Given the description of an element on the screen output the (x, y) to click on. 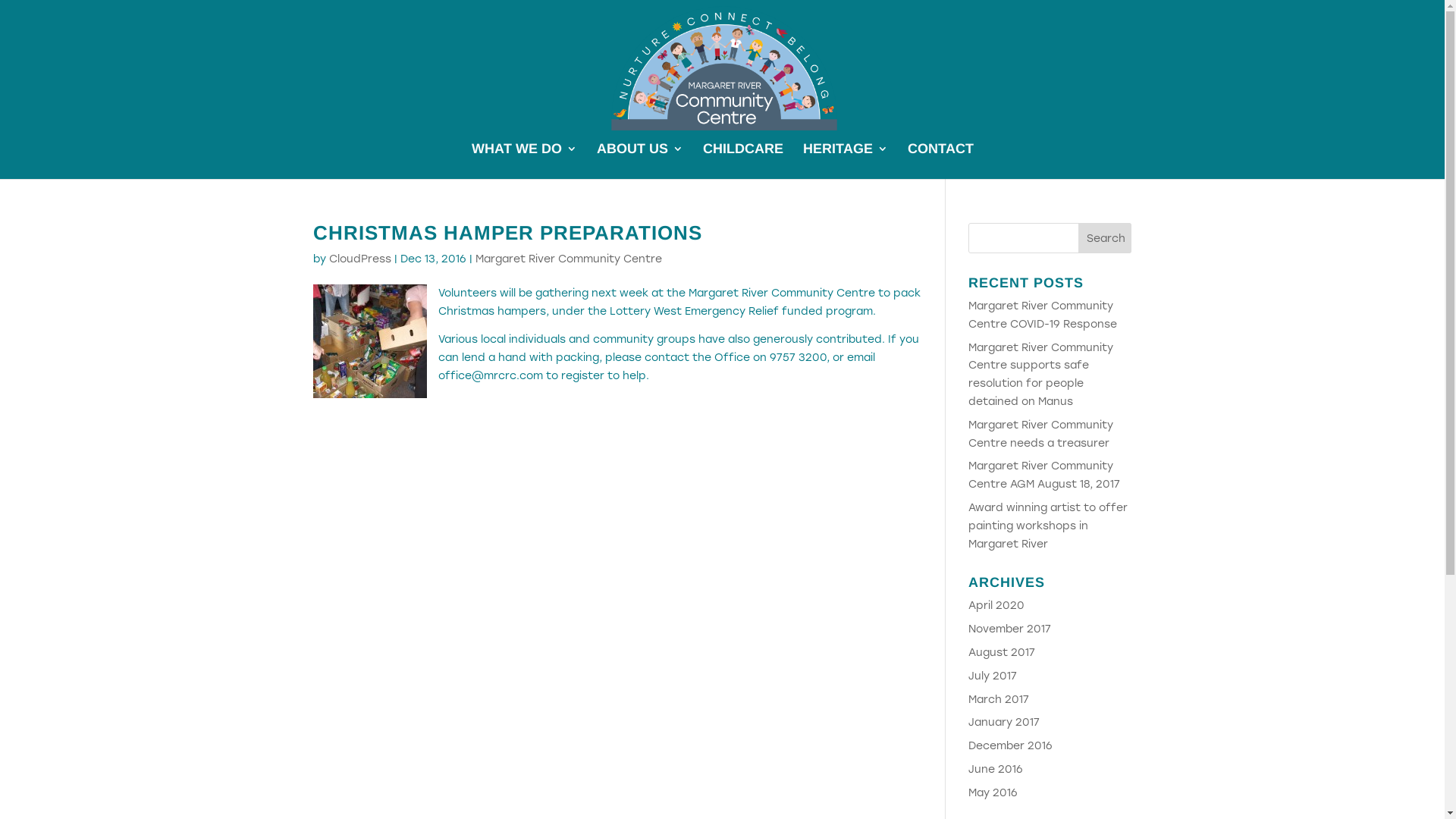
Margaret River Community Centre Element type: text (567, 258)
Margaret River Community Centre needs a treasurer Element type: text (1040, 433)
April 2020 Element type: text (996, 605)
CONTACT Element type: text (939, 160)
CHILDCARE Element type: text (742, 160)
June 2016 Element type: text (995, 768)
Search Element type: text (1104, 237)
HERITAGE Element type: text (844, 160)
November 2017 Element type: text (1009, 628)
CloudPress Element type: text (360, 258)
ABOUT US Element type: text (639, 160)
January 2017 Element type: text (1003, 721)
August 2017 Element type: text (1001, 652)
July 2017 Element type: text (992, 675)
May 2016 Element type: text (992, 792)
December 2016 Element type: text (1010, 745)
March 2017 Element type: text (998, 699)
CHRISTMAS HAMPER PREPARATIONS Element type: text (506, 232)
Margaret River Community Centre COVID-19 Response Element type: text (1042, 314)
Margaret River Community Centre AGM August 18, 2017 Element type: text (1044, 474)
WHAT WE DO Element type: text (524, 160)
